Given the description of an element on the screen output the (x, y) to click on. 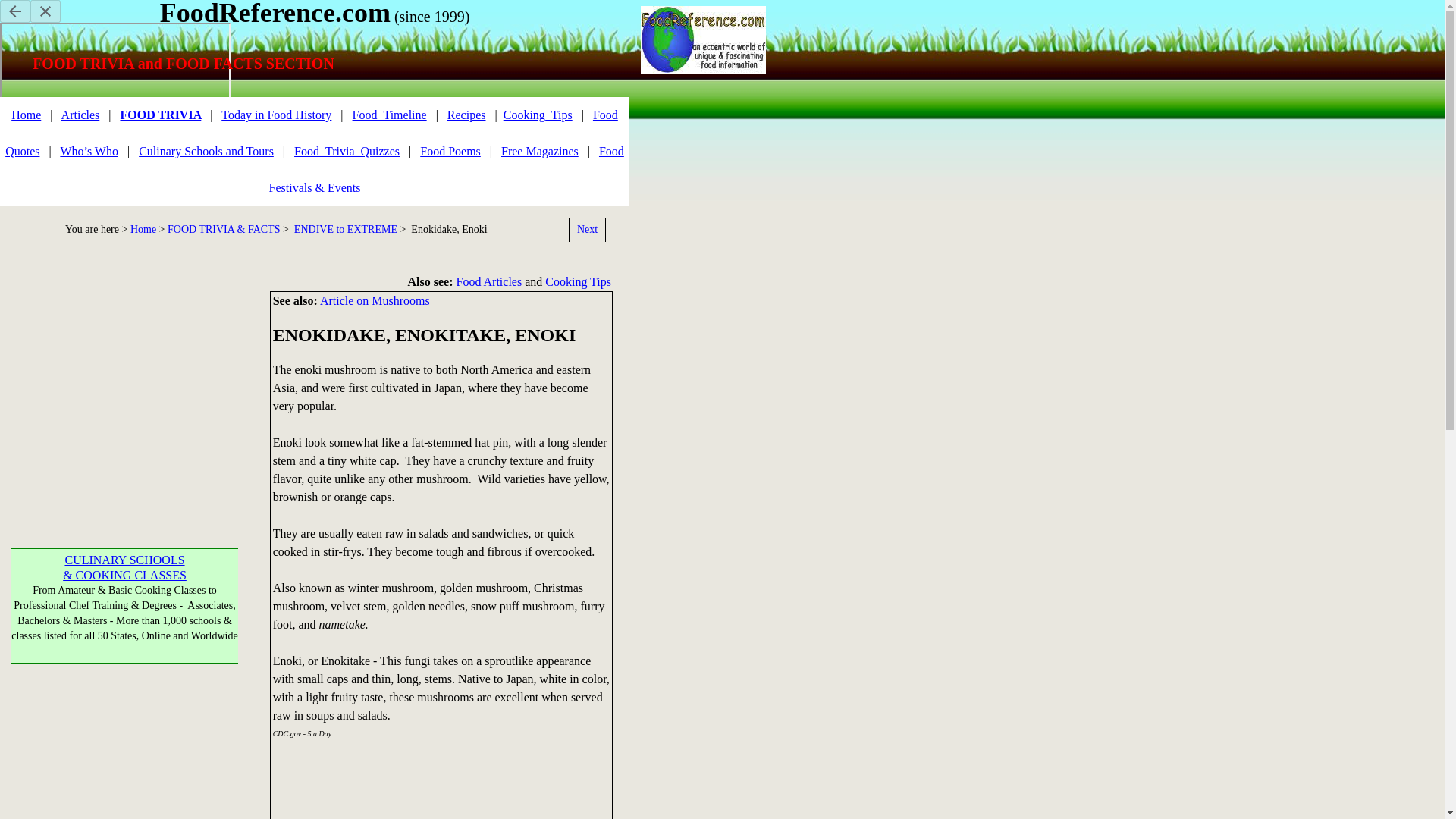
Articles (80, 114)
Today in Food History (276, 114)
Article on Mushrooms (374, 300)
Advertisement (697, 749)
FOOD TRIVIA (159, 114)
Cooking Tips (577, 281)
Food Articles (489, 281)
Home (25, 114)
FoodReference.com Logo (702, 39)
Advertisement (128, 609)
